Given the description of an element on the screen output the (x, y) to click on. 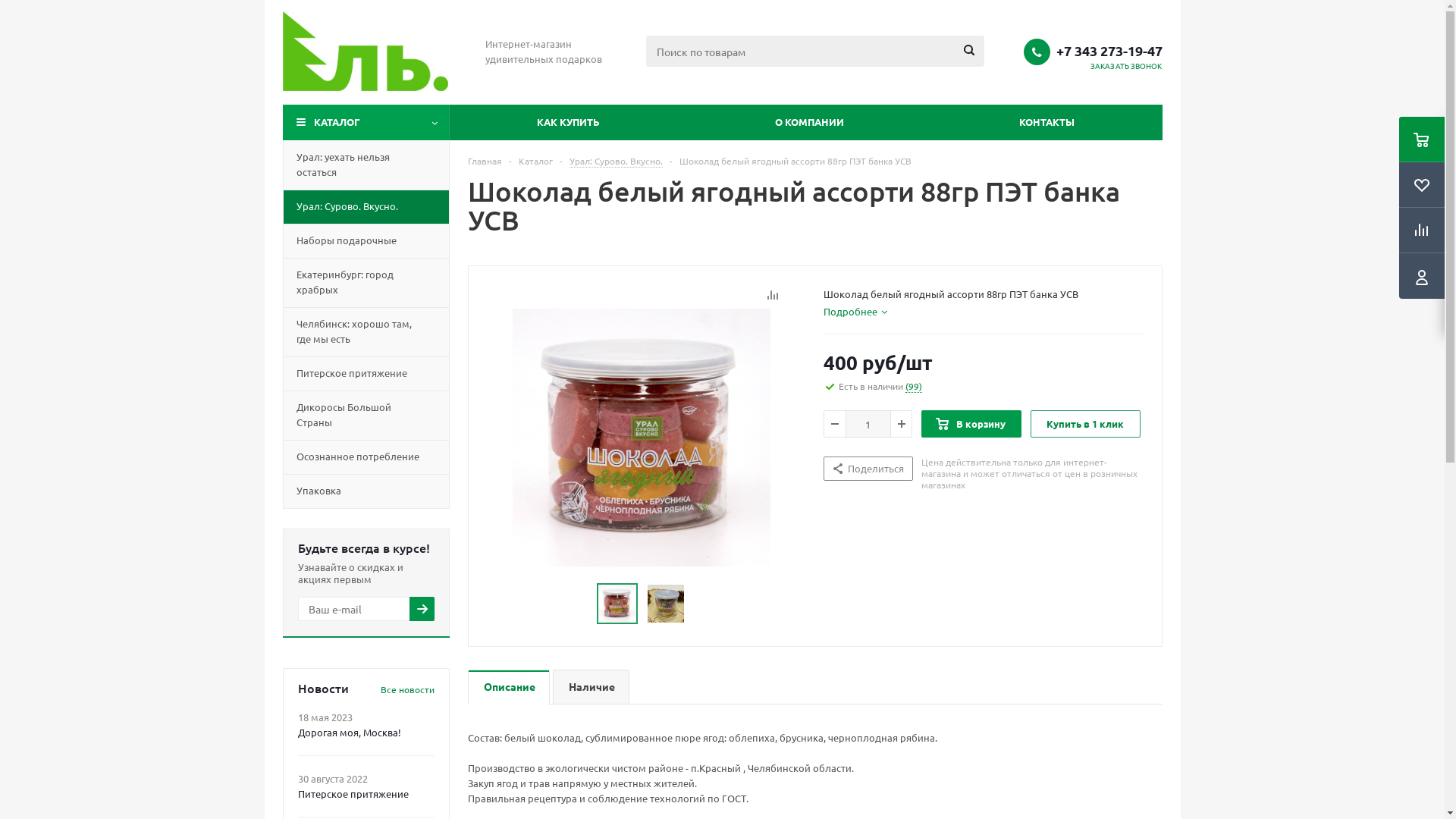
+7 343 273-19-47 Element type: text (1108, 50)
